Given the description of an element on the screen output the (x, y) to click on. 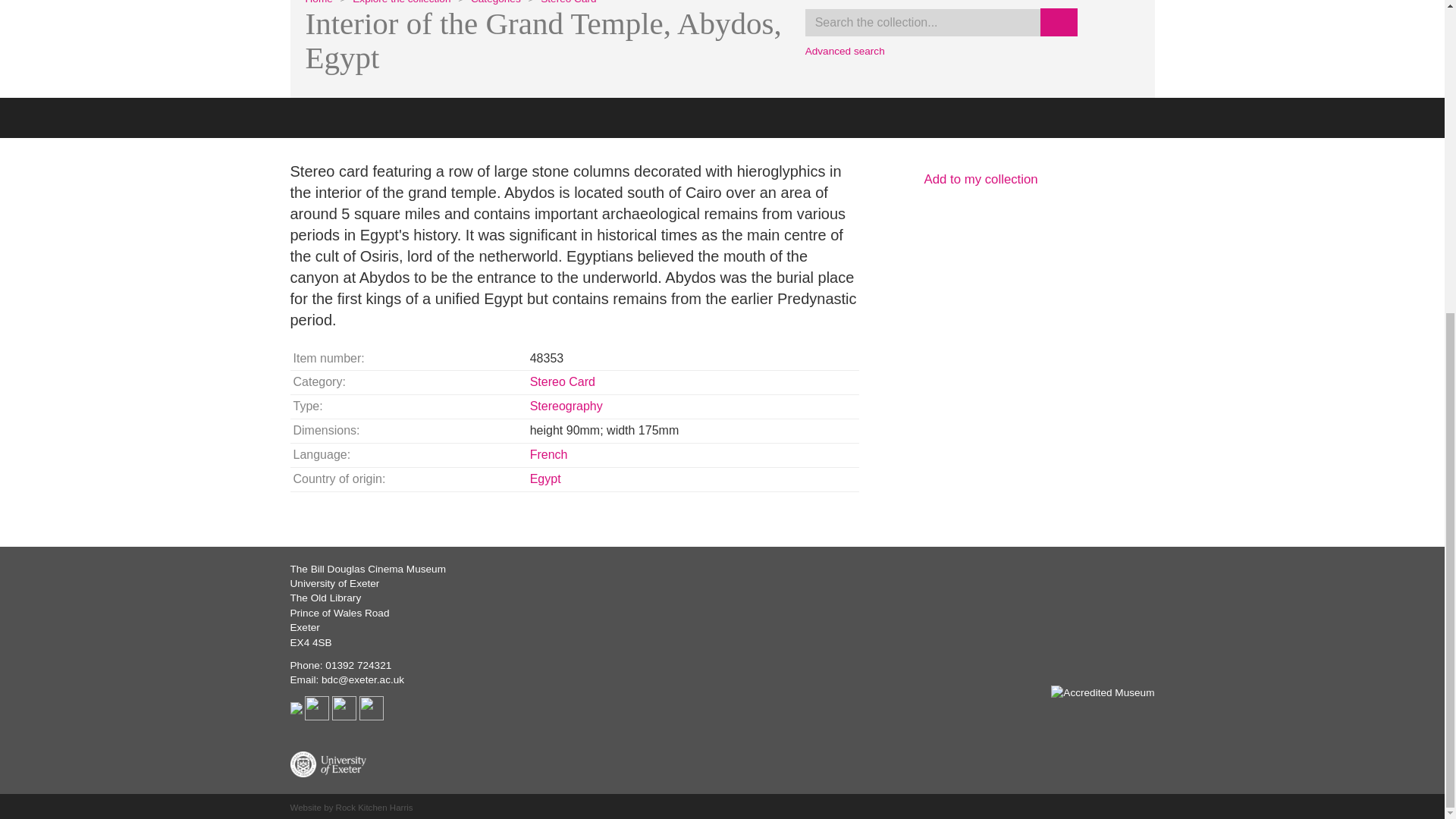
French (548, 454)
Explore the collection (400, 2)
Stereography (565, 405)
Stereo Card (567, 2)
Search (1059, 22)
Advanced search (845, 50)
Web design and development, Leicester (350, 807)
Stereo Card (562, 381)
Add to my collection (1017, 179)
Egypt (544, 478)
Categories (495, 2)
Exeter University (327, 764)
Home (317, 2)
